Given the description of an element on the screen output the (x, y) to click on. 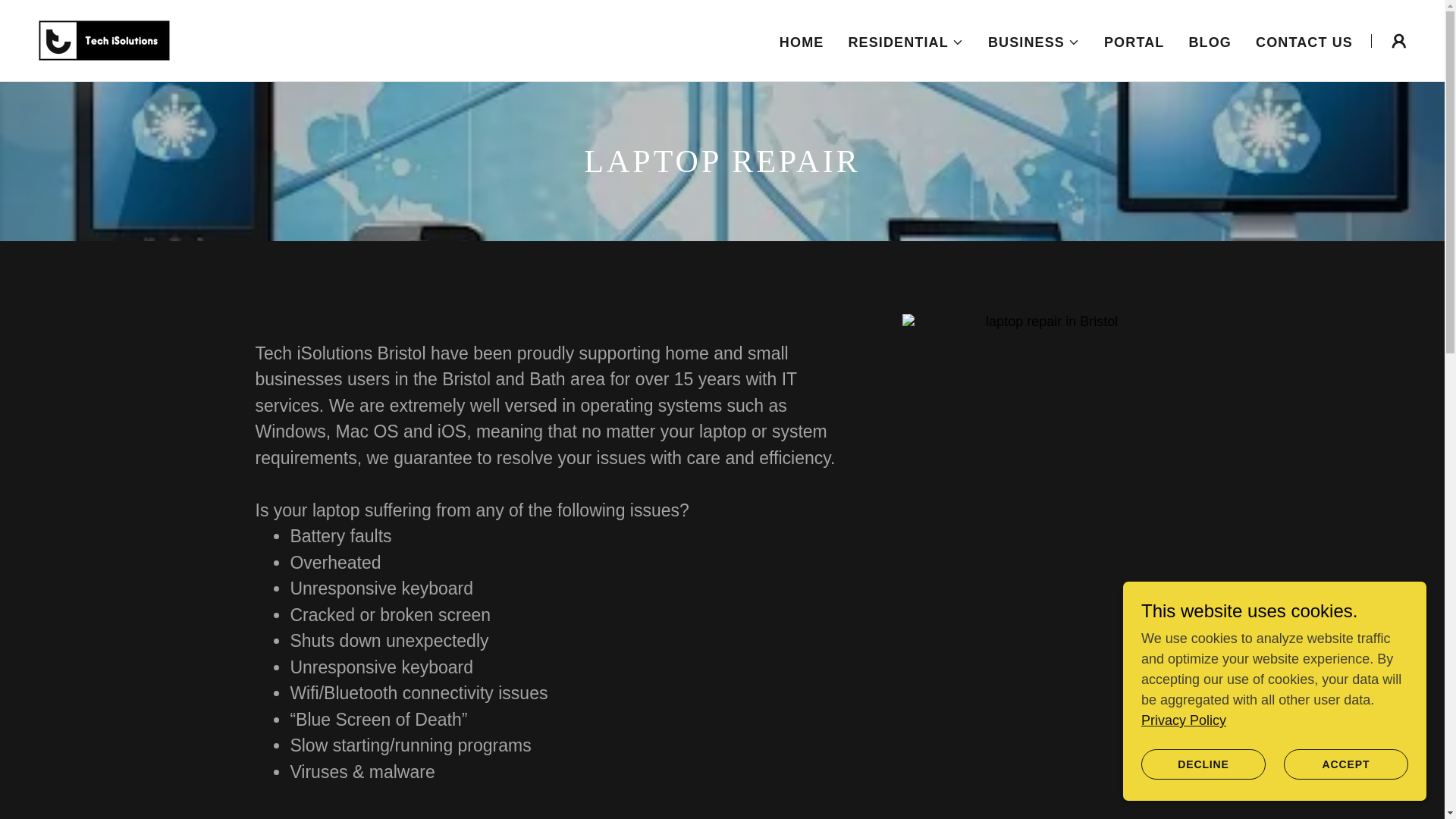
HOME (801, 42)
CONTACT US (1303, 42)
RESIDENTIAL (904, 42)
Tech iSolutions (103, 38)
PORTAL (1134, 42)
BUSINESS (1034, 42)
BLOG (1209, 42)
